Given the description of an element on the screen output the (x, y) to click on. 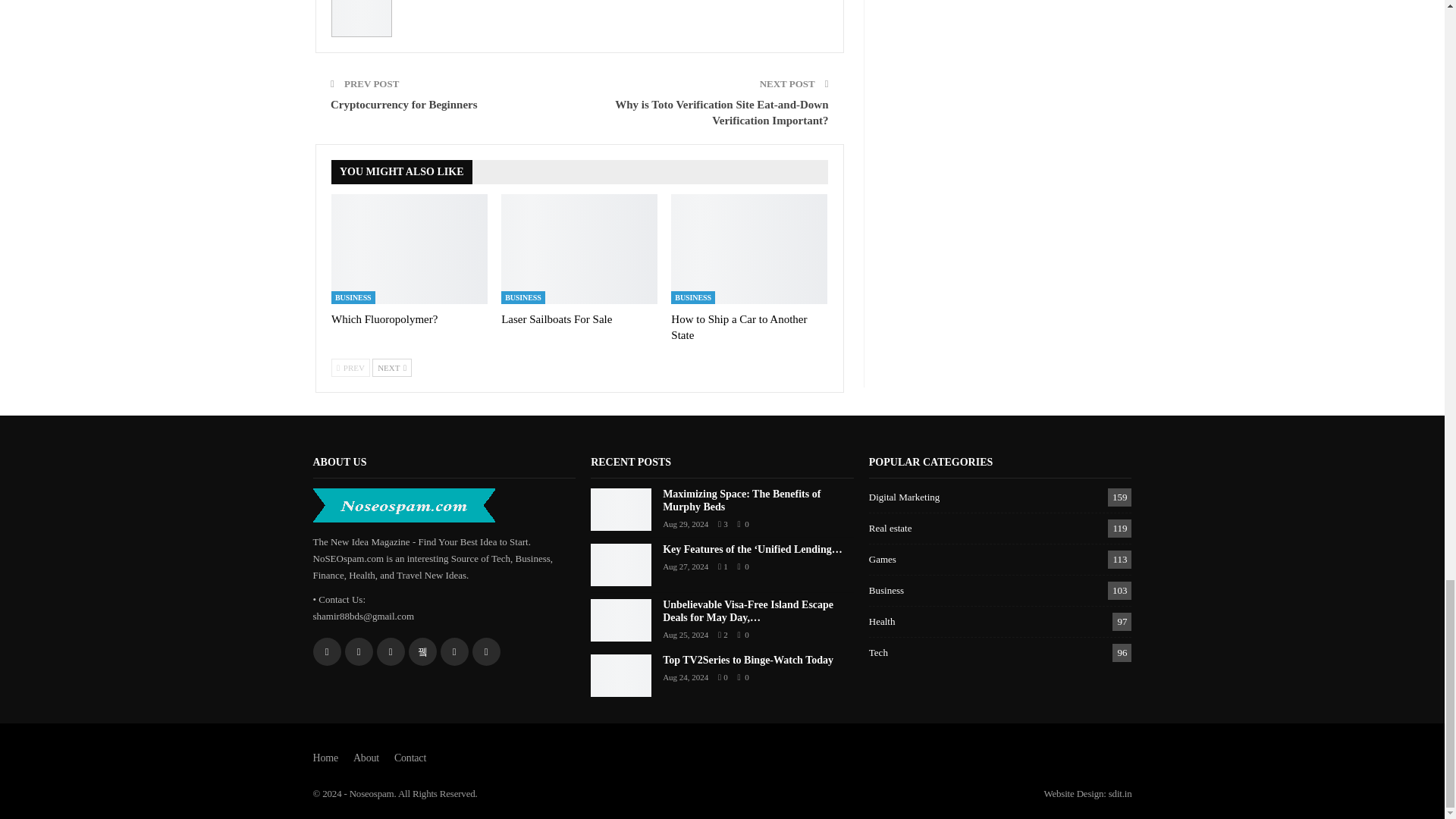
Which Fluoropolymer? (409, 248)
Which Fluoropolymer? (384, 318)
How to Ship a Car to Another State (738, 326)
How to Ship a Car to Another State (749, 248)
Laser Sailboats For Sale (579, 248)
Laser Sailboats For Sale (555, 318)
